Given the description of an element on the screen output the (x, y) to click on. 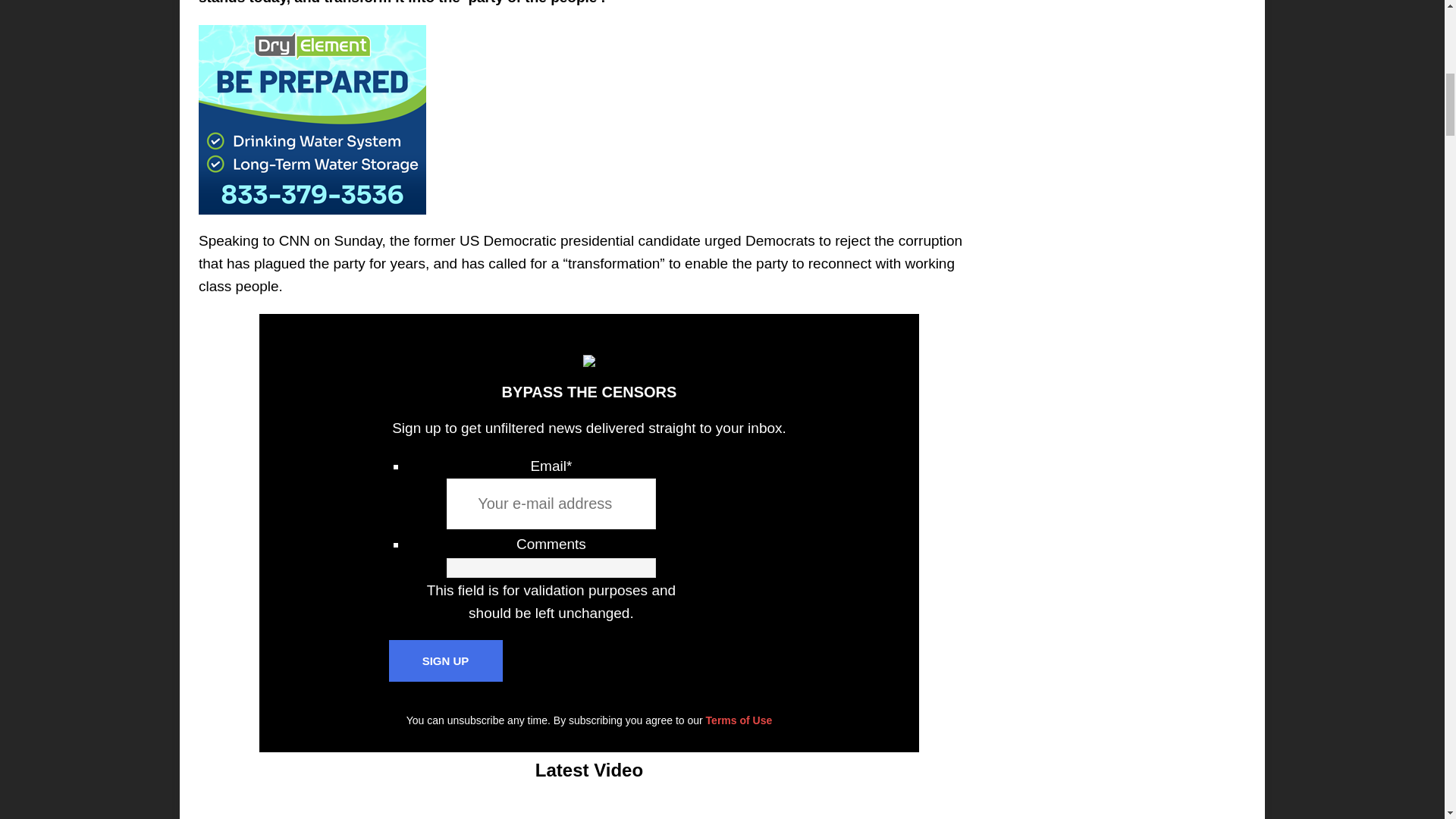
SIGN UP (445, 660)
